Given the description of an element on the screen output the (x, y) to click on. 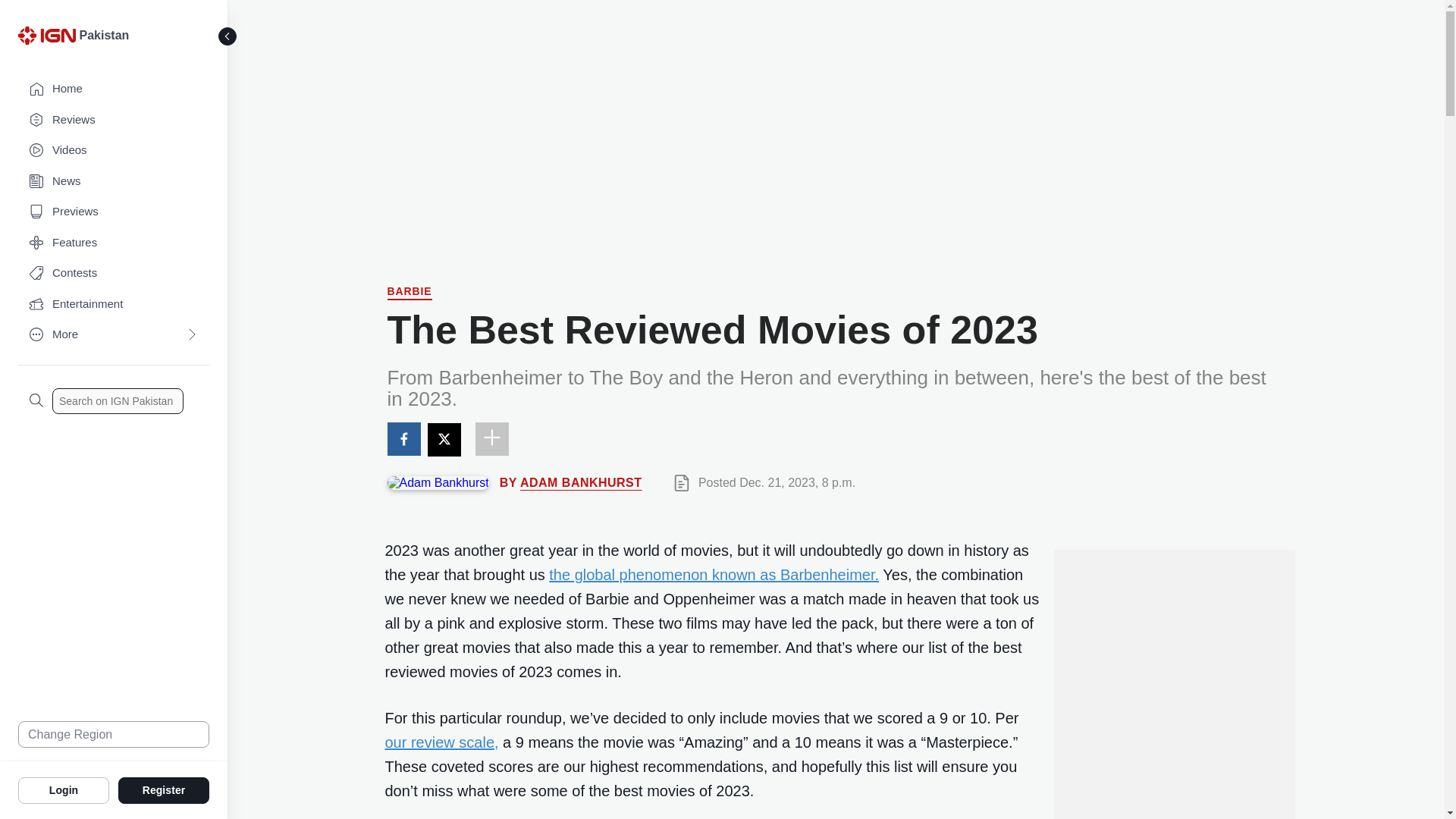
Features (113, 242)
IGN Logo (46, 34)
our review scale, (442, 742)
Login (63, 789)
News (113, 181)
IGN Logo (48, 39)
Home (113, 89)
Contests (113, 273)
Barbie (408, 292)
Videos (113, 150)
